Given the description of an element on the screen output the (x, y) to click on. 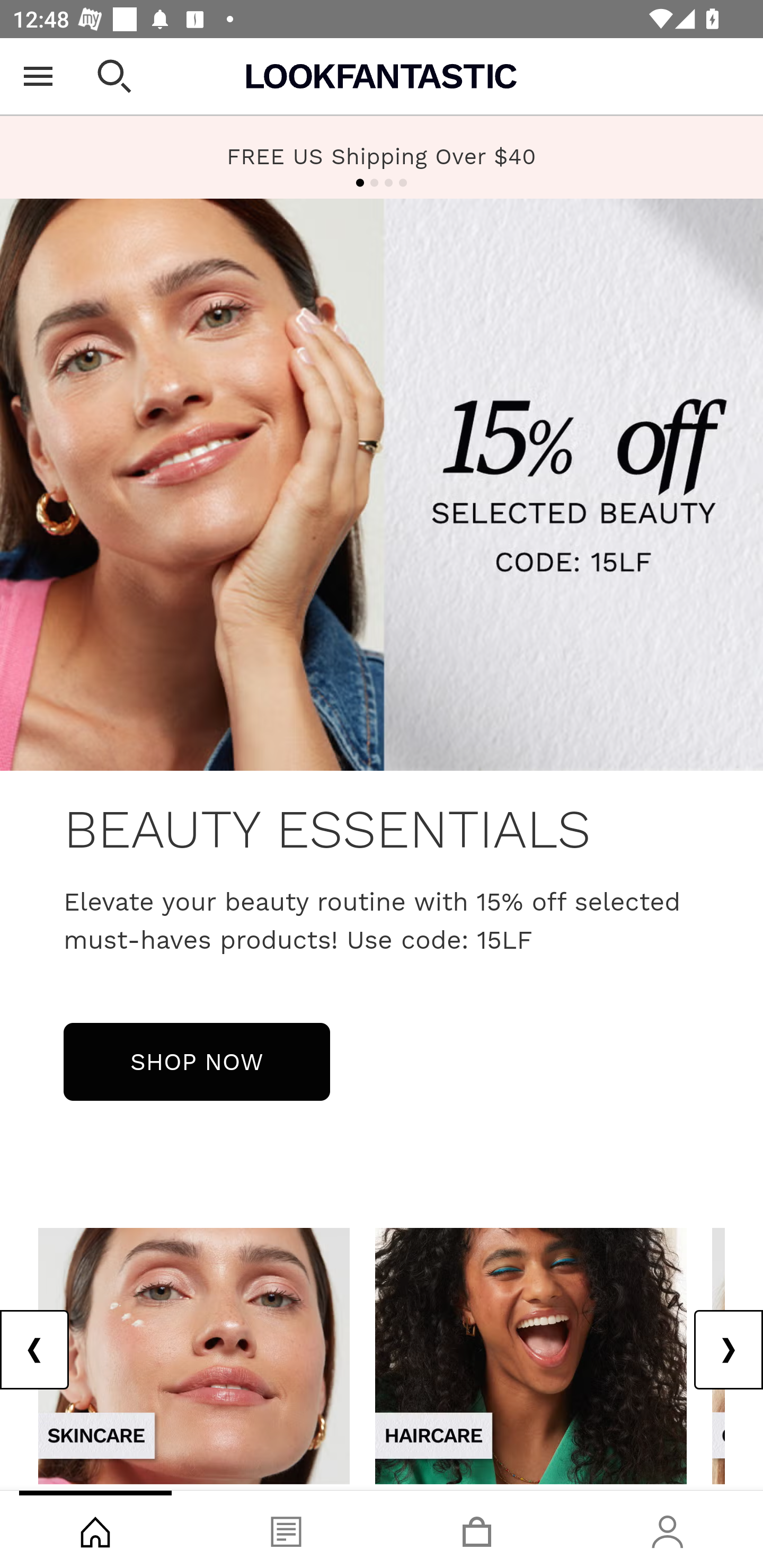
Open Menu (38, 75)
Open search (114, 75)
Lookfantastic USA (381, 75)
FREE US Shipping Over $40 (381, 157)
FREE US Shipping Over $40 (381, 155)
SHOP NOW (196, 1061)
view-all (193, 1355)
view-all (530, 1355)
Previous (35, 1349)
Next (727, 1349)
Shop, tab, 1 of 4 (95, 1529)
Blog, tab, 2 of 4 (285, 1529)
Basket, tab, 3 of 4 (476, 1529)
Account, tab, 4 of 4 (667, 1529)
